Given the description of an element on the screen output the (x, y) to click on. 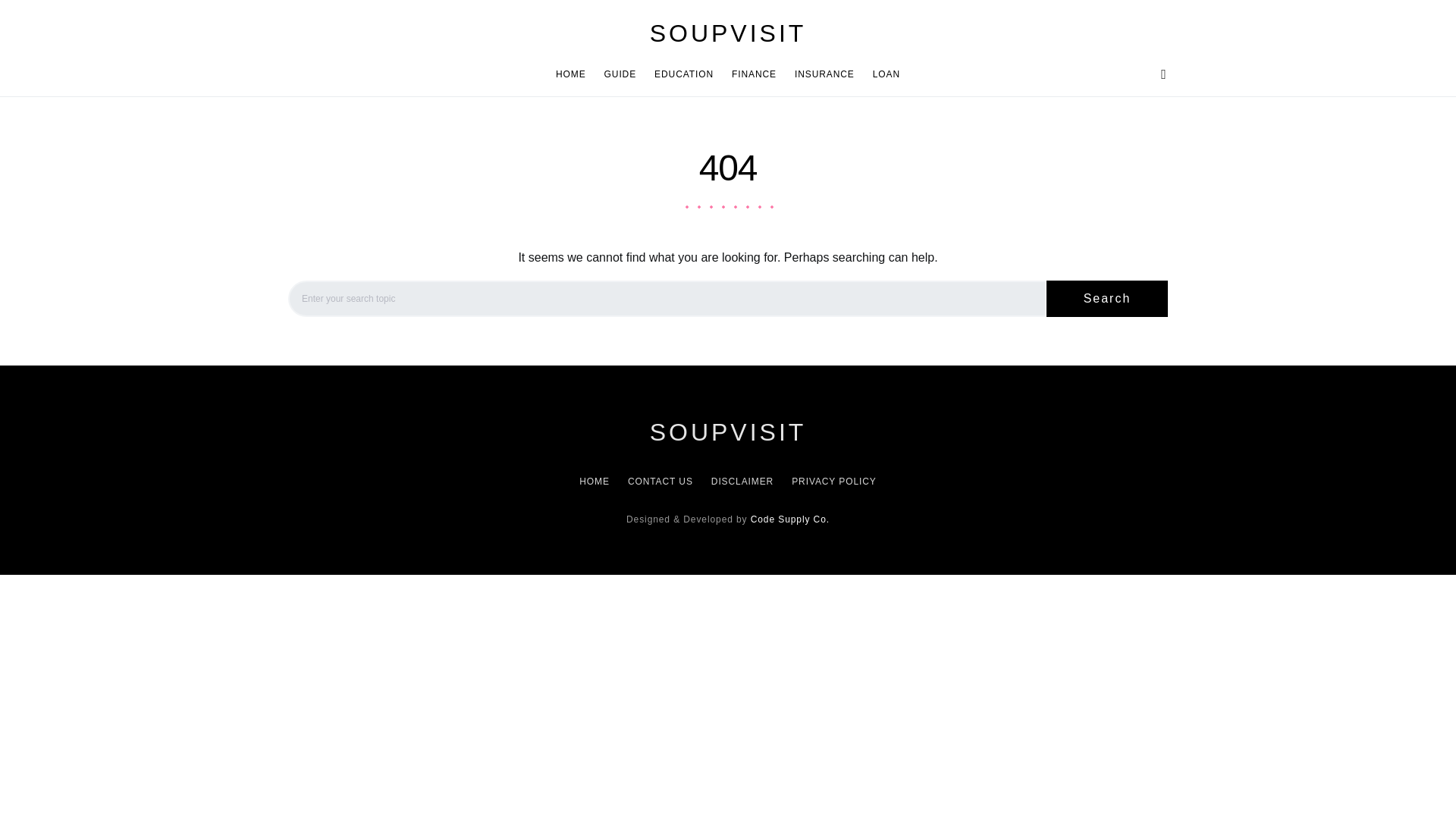
CONTACT US (659, 481)
PRIVACY POLICY (829, 481)
GUIDE (620, 74)
INSURANCE (824, 74)
DISCLAIMER (742, 481)
HOME (598, 481)
Code Supply Co. (790, 519)
FINANCE (754, 74)
Search (1106, 298)
EDUCATION (683, 74)
SOUPVISIT (727, 33)
